Given the description of an element on the screen output the (x, y) to click on. 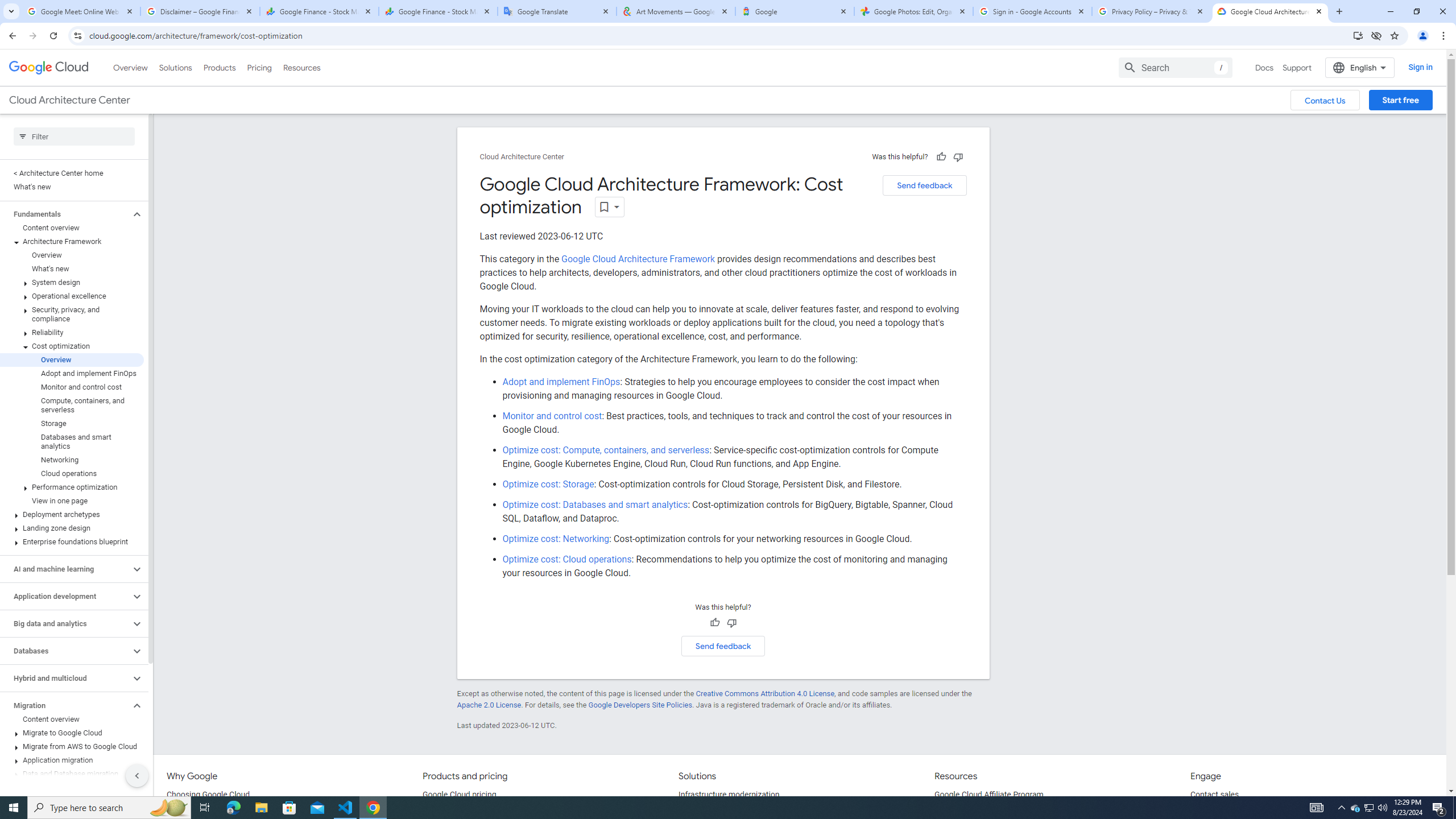
What's new (72, 269)
Cloud Architecture Center (521, 156)
View in one page (72, 500)
Apache 2.0 License (489, 705)
Optimize cost: Storage (548, 484)
Operational excellence (72, 296)
System design (72, 282)
Google (794, 11)
Start free (1400, 100)
Migration (64, 705)
Optimize cost: Compute, containers, and serverless (606, 449)
Application migration (72, 760)
